Given the description of an element on the screen output the (x, y) to click on. 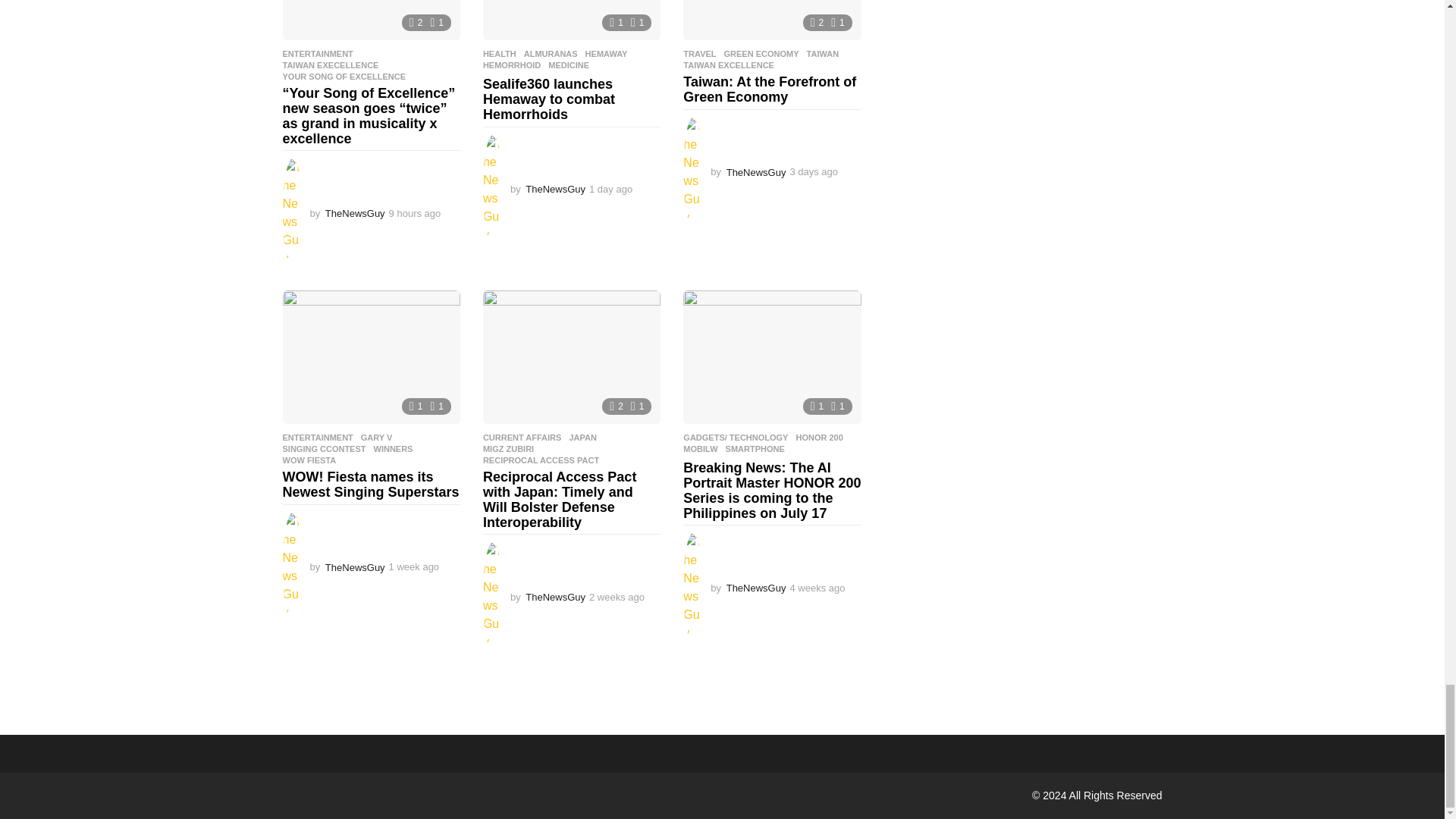
Sealife360 launches Hemaway to combat Hemorrhoids (572, 20)
Taiwan: At the Forefront of Green Economy (771, 20)
WOW! Fiesta names its Newest Singing Superstars (371, 357)
